Given the description of an element on the screen output the (x, y) to click on. 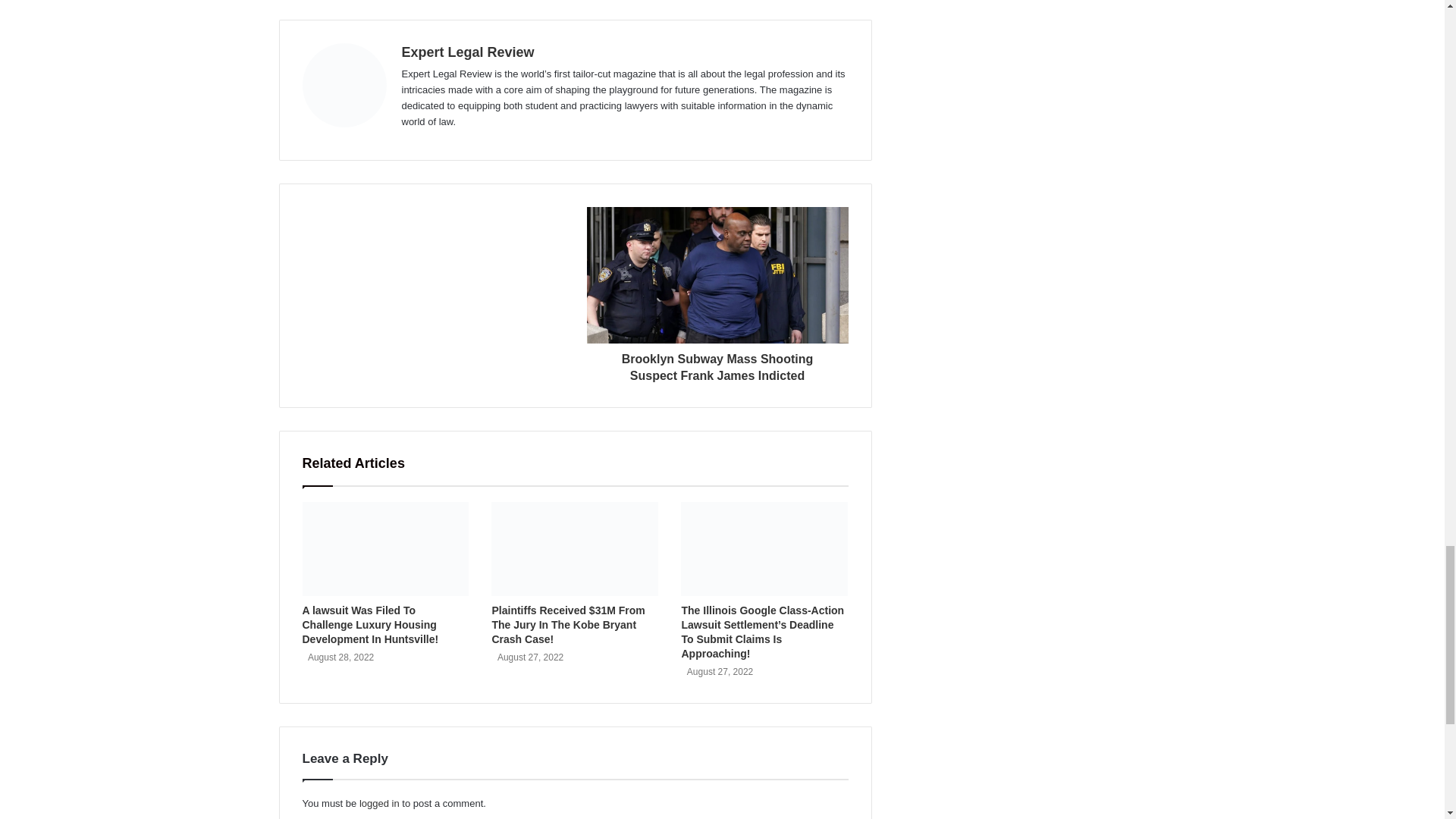
Brooklyn Subway Mass Shooting Suspect Frank James Indicted (717, 363)
Expert Legal Review (467, 52)
